Given the description of an element on the screen output the (x, y) to click on. 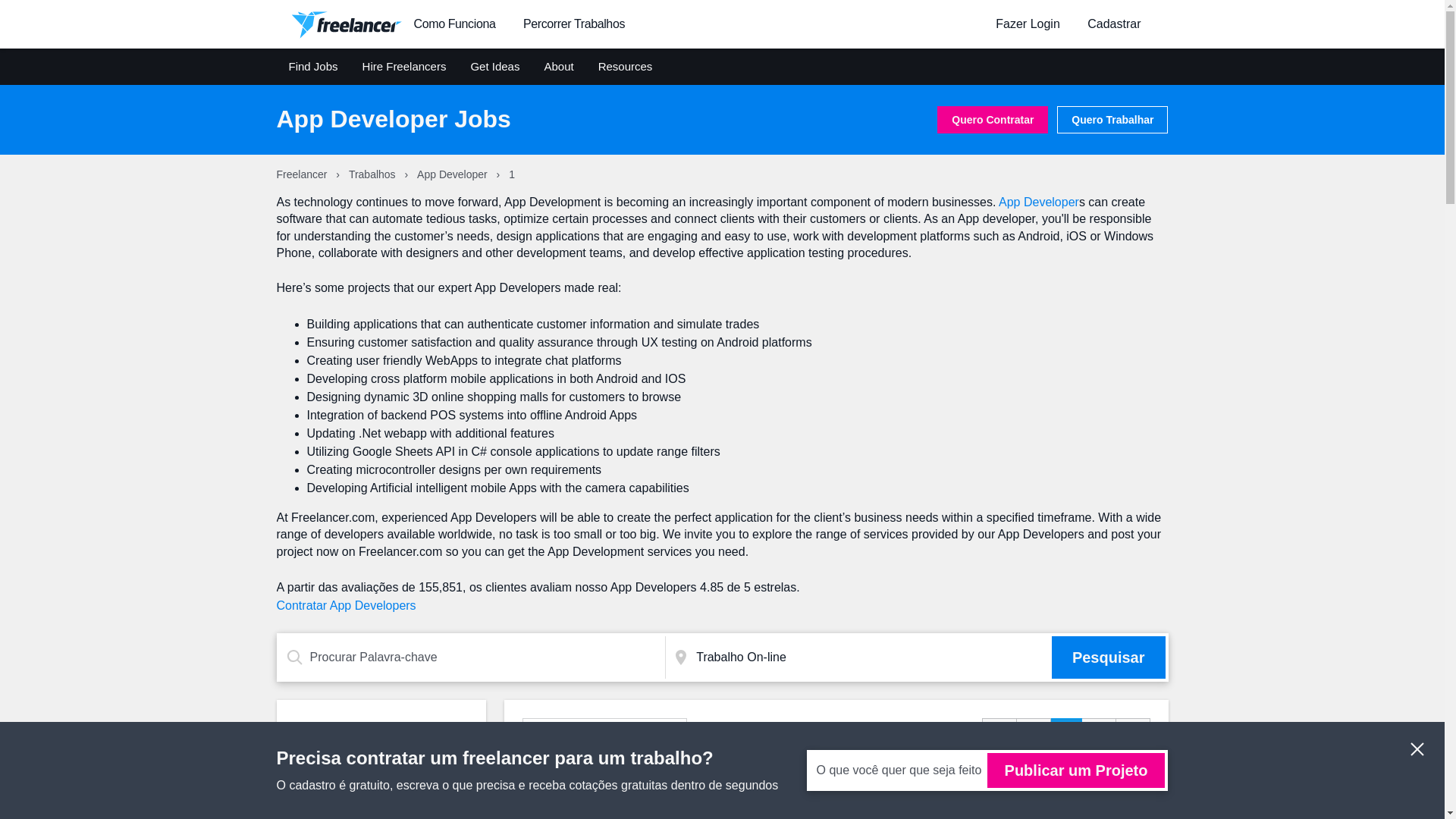
Contratar App Developers (345, 604)
Trabalho On-line (870, 657)
Freelancer (303, 174)
Resources (625, 66)
Quero Contratar (992, 119)
Get Ideas (494, 66)
Quero Trabalhar (1112, 119)
Hire Freelancers (404, 66)
Cadastrar (1114, 23)
Trabalhos (373, 174)
Find Jobs (312, 66)
App Developer (1038, 201)
App Developer (453, 174)
1 (1066, 731)
Pesquisar (1108, 657)
